Given the description of an element on the screen output the (x, y) to click on. 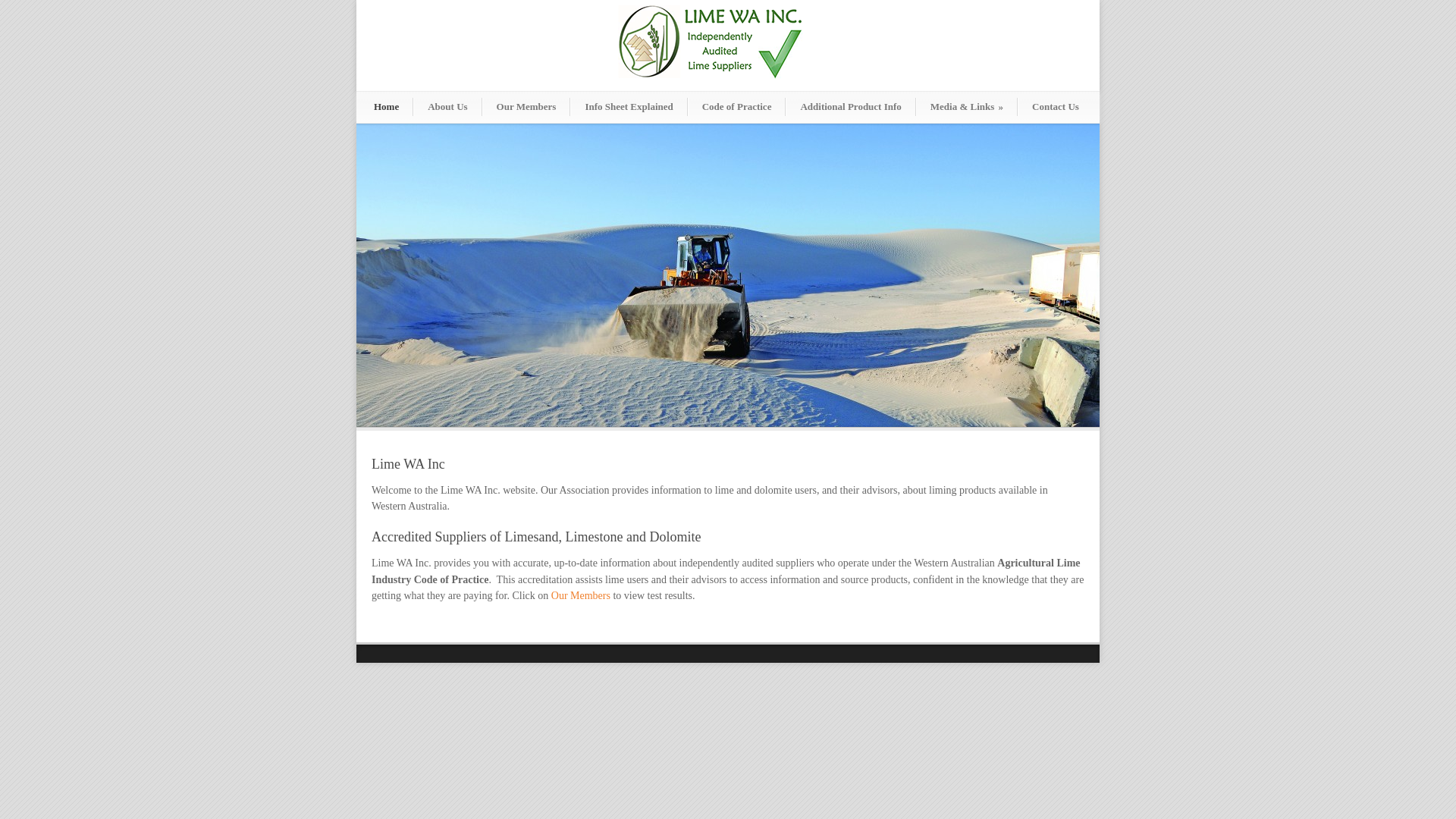
Our Members Element type: text (580, 595)
Info Sheet Explained Element type: text (628, 106)
Additional Product Info Element type: text (850, 106)
Send Element type: text (23, 10)
Home Element type: text (386, 106)
Contact Us Element type: text (1054, 106)
About Us Element type: text (447, 106)
Code of Practice Element type: text (736, 106)
Our Members Element type: text (526, 106)
